Given the description of an element on the screen output the (x, y) to click on. 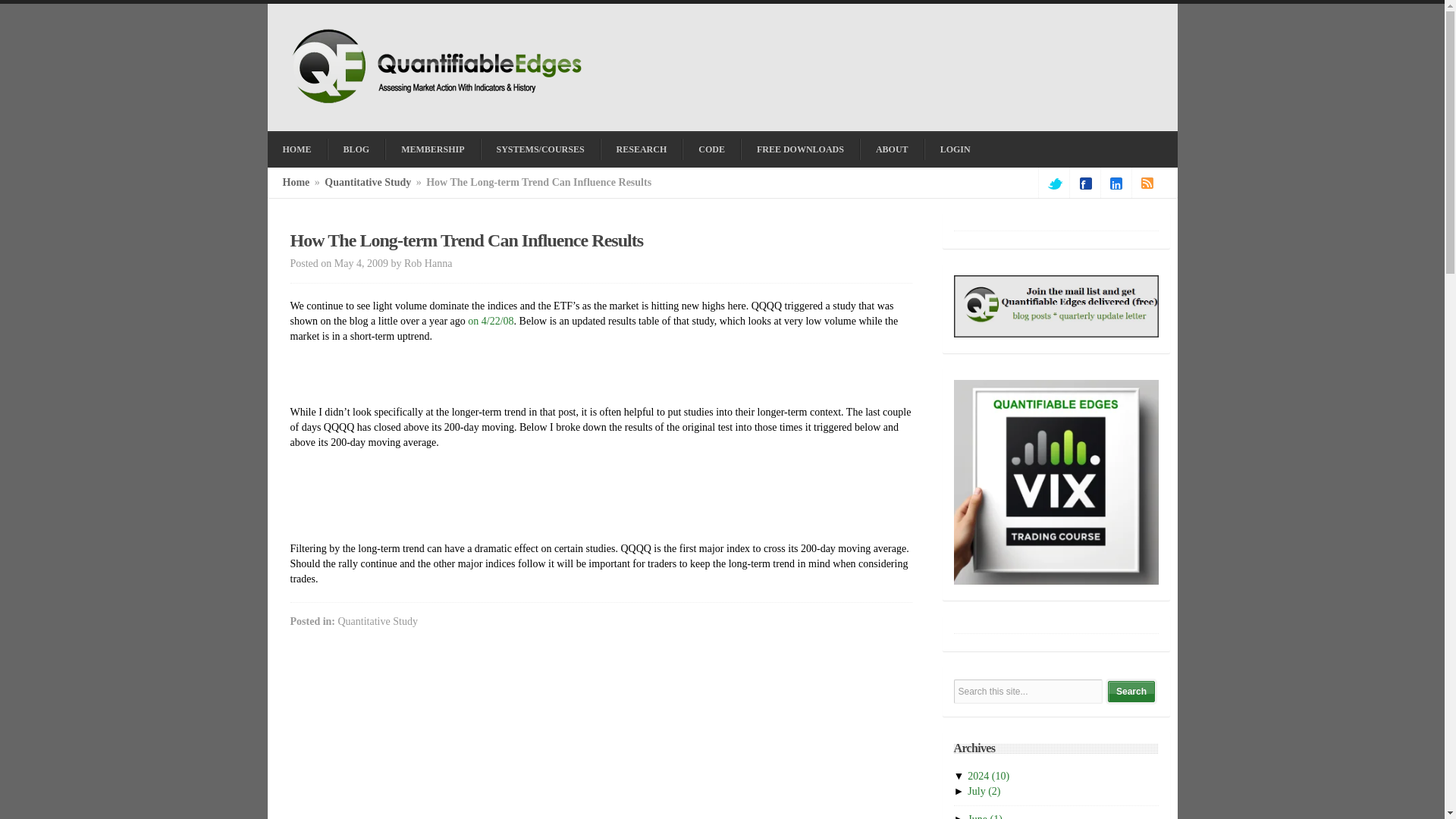
RESEARCH (641, 148)
click to expand (960, 790)
click to expand (960, 816)
click to collapse (960, 776)
Home (295, 182)
BLOG (355, 148)
CODE (710, 148)
ABOUT (891, 148)
Search (1131, 690)
linkedin (1115, 183)
